Given the description of an element on the screen output the (x, y) to click on. 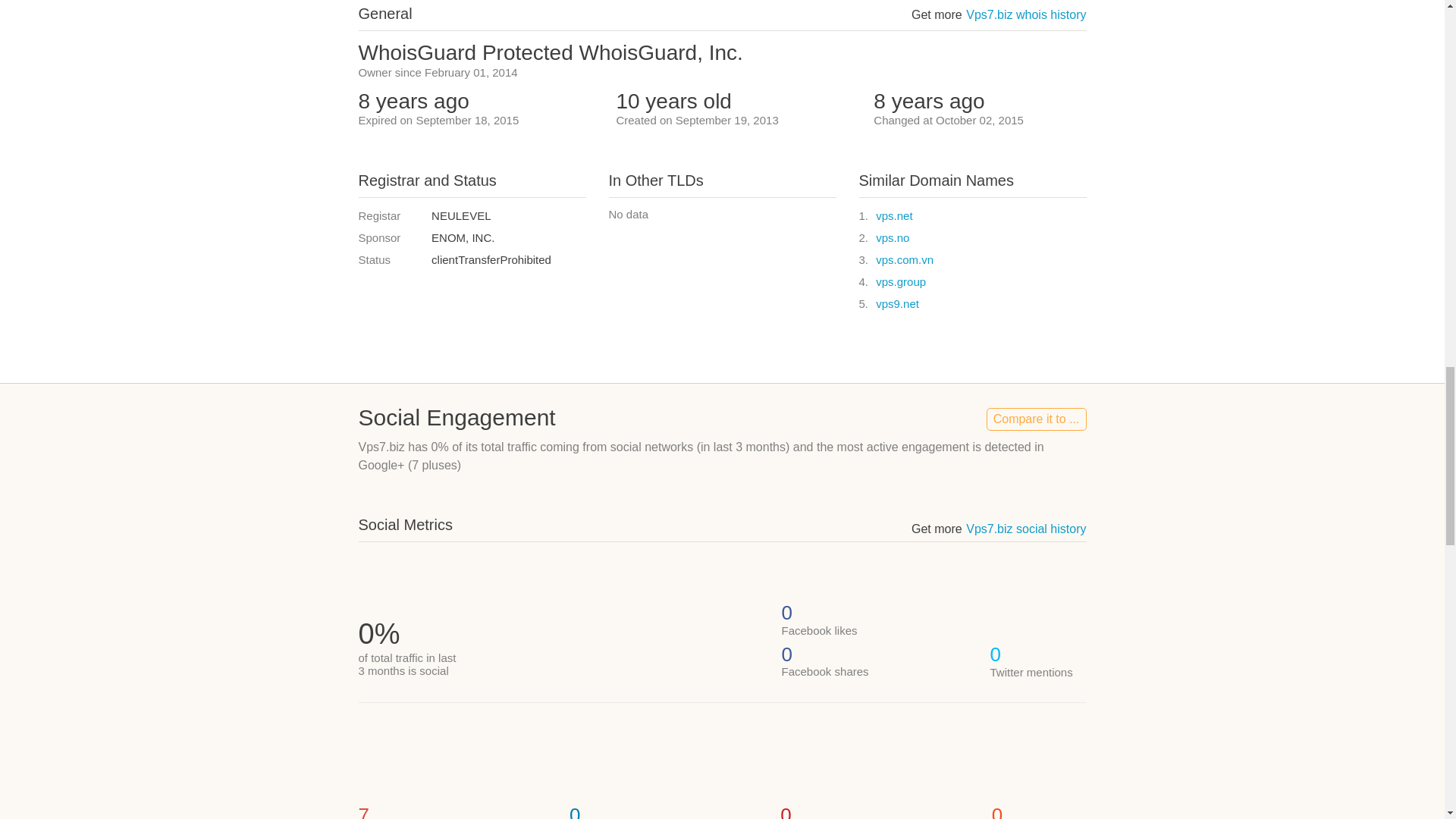
vps.com.vn (904, 259)
vps.no (892, 237)
vps9.net (897, 303)
Compare it to ... (1036, 418)
vps.group (901, 281)
Vps7.biz social history (1026, 528)
Vps7.biz whois history (1026, 14)
vps.net (894, 215)
